Given the description of an element on the screen output the (x, y) to click on. 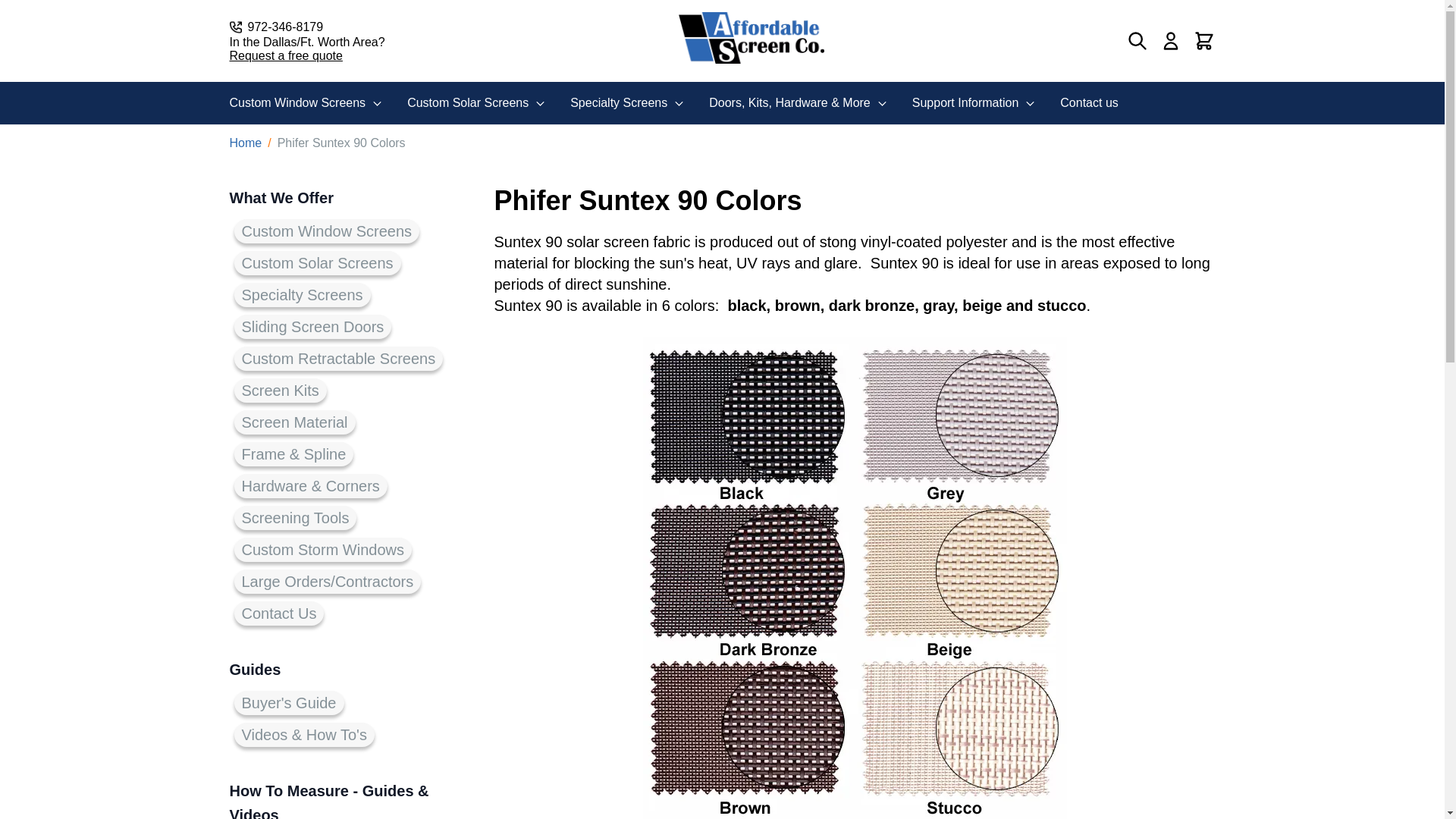
Custom Window Screens (305, 102)
Affordable Window Screens (751, 37)
Custom Solar Screens (475, 102)
972-346-8179 (306, 27)
Search (1137, 40)
Request a free quote (306, 55)
Cart (1203, 40)
Go to Home Page (245, 143)
